Given the description of an element on the screen output the (x, y) to click on. 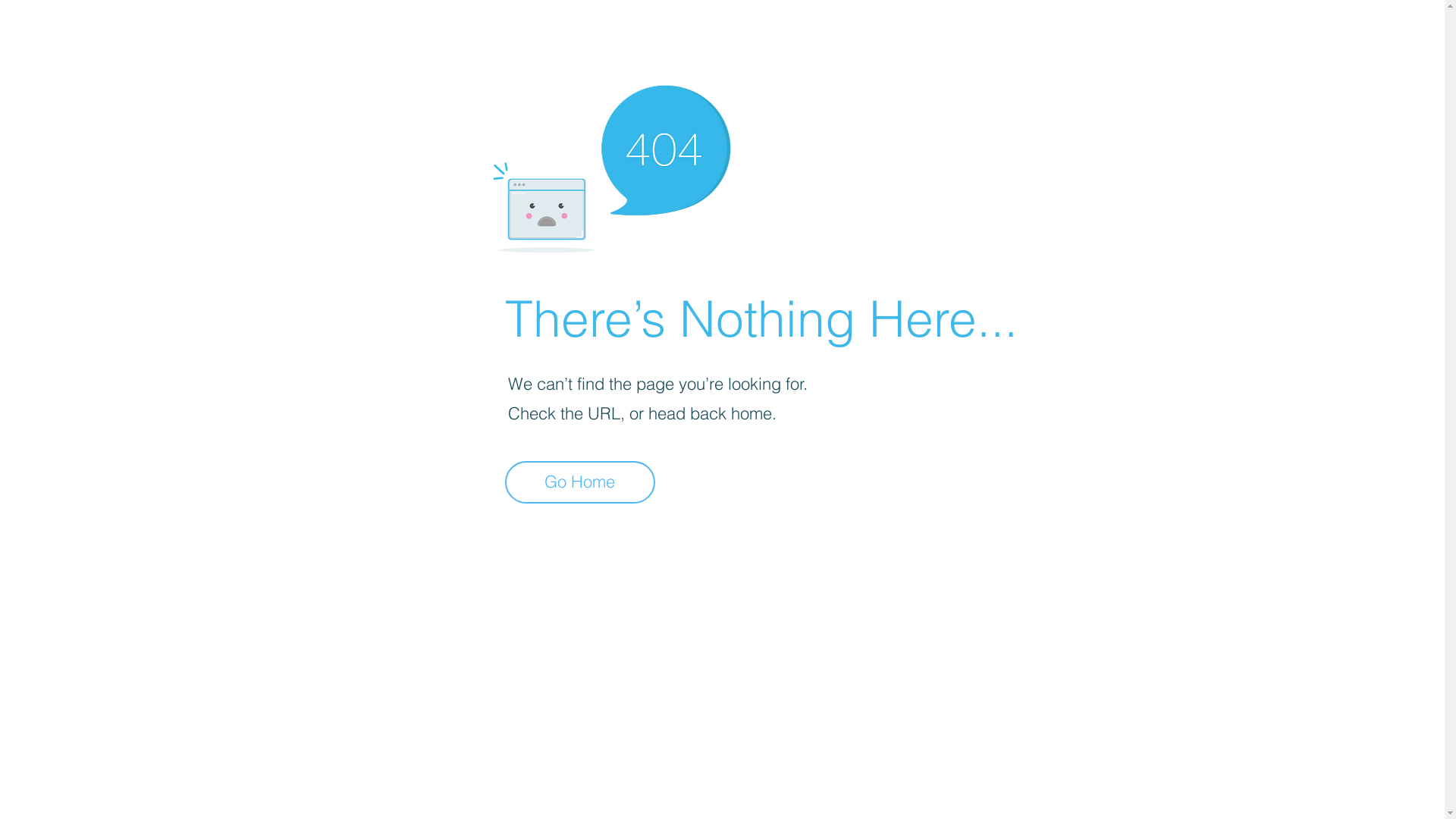
Go Home Element type: text (580, 482)
404-icon_2.png Element type: hover (610, 164)
